Given the description of an element on the screen output the (x, y) to click on. 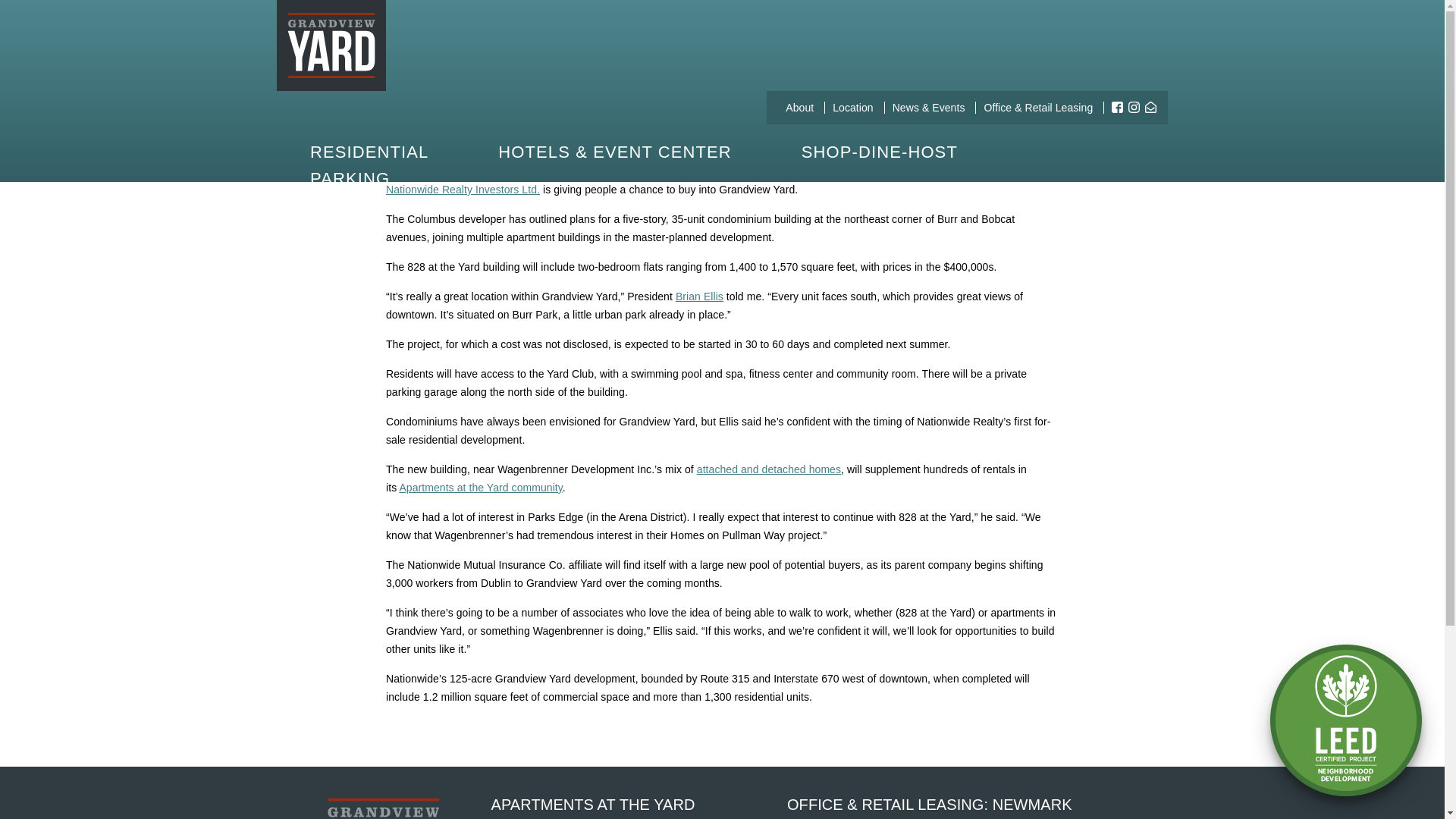
Location (852, 107)
RESIDENTIAL (368, 151)
PARKING (349, 178)
SHOP-DINE-HOST (879, 151)
About (799, 107)
